Given the description of an element on the screen output the (x, y) to click on. 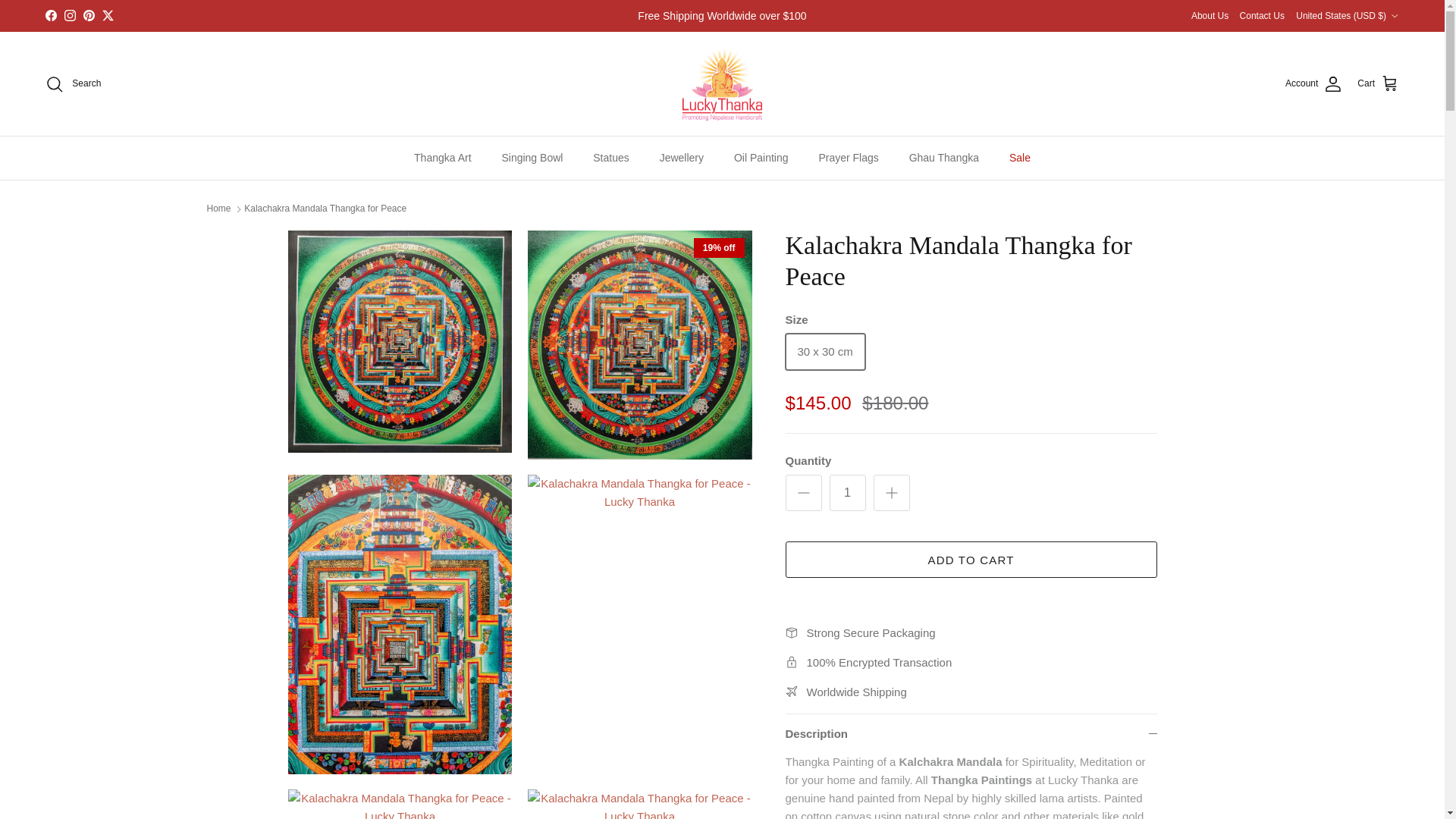
Pinterest (88, 15)
Twitter (107, 15)
Thangka Art (442, 157)
Contact Us (1262, 15)
Lucky Thanka on Twitter (107, 15)
Lucky Thanka on Facebook (50, 15)
About Us (1209, 15)
Lucky Thanka on Instagram (69, 15)
Cart (1377, 84)
Account (1313, 84)
Instagram (69, 15)
Lucky Thanka on Pinterest (88, 15)
1 (847, 493)
Facebook (50, 15)
Search (72, 84)
